Given the description of an element on the screen output the (x, y) to click on. 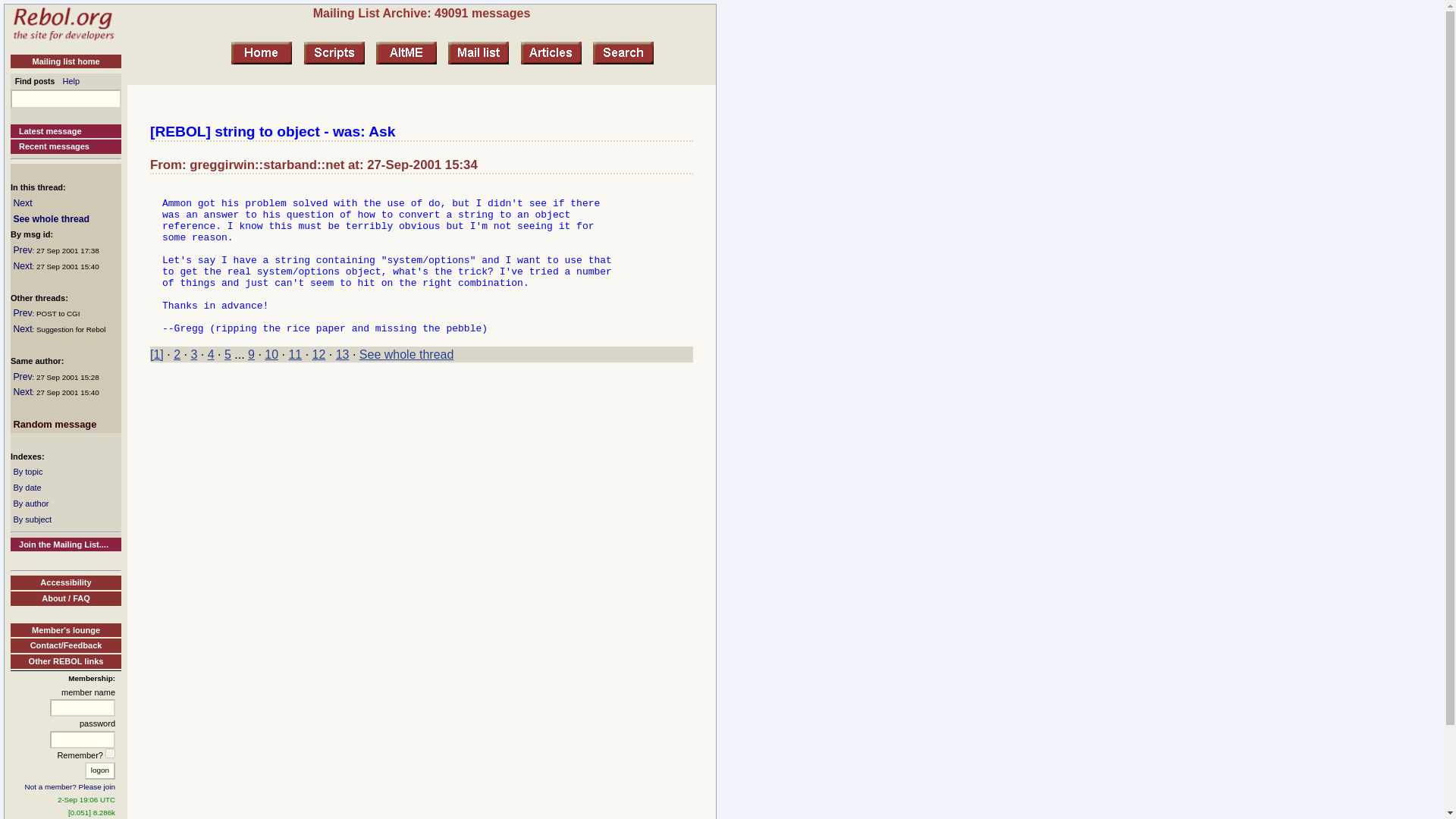
Next (22, 391)
Next (22, 266)
By author (30, 502)
Not a member? Please join (69, 786)
Prev (22, 312)
By date (26, 487)
Next (22, 203)
By subject (31, 519)
Prev (22, 249)
Random message (54, 423)
